Given the description of an element on the screen output the (x, y) to click on. 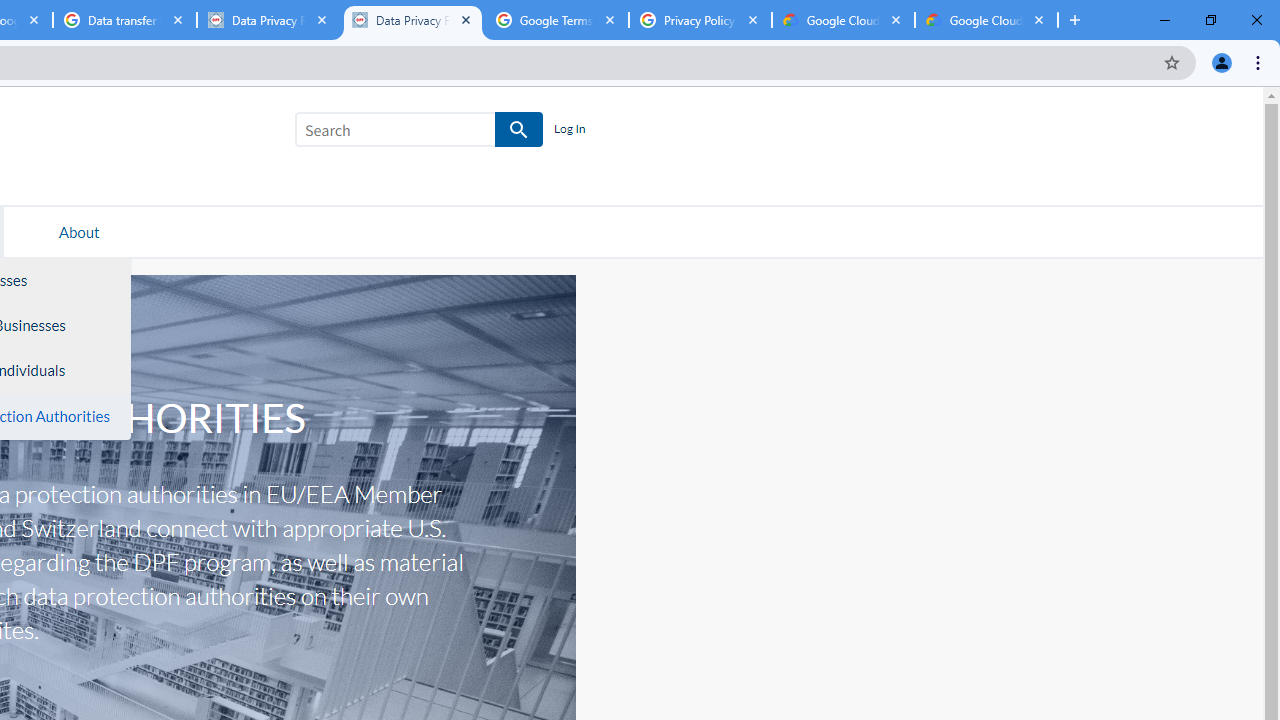
Google Cloud Privacy Notice (986, 20)
AutomationID: navitem2 (79, 231)
Search SEARCH (419, 133)
